Given the description of an element on the screen output the (x, y) to click on. 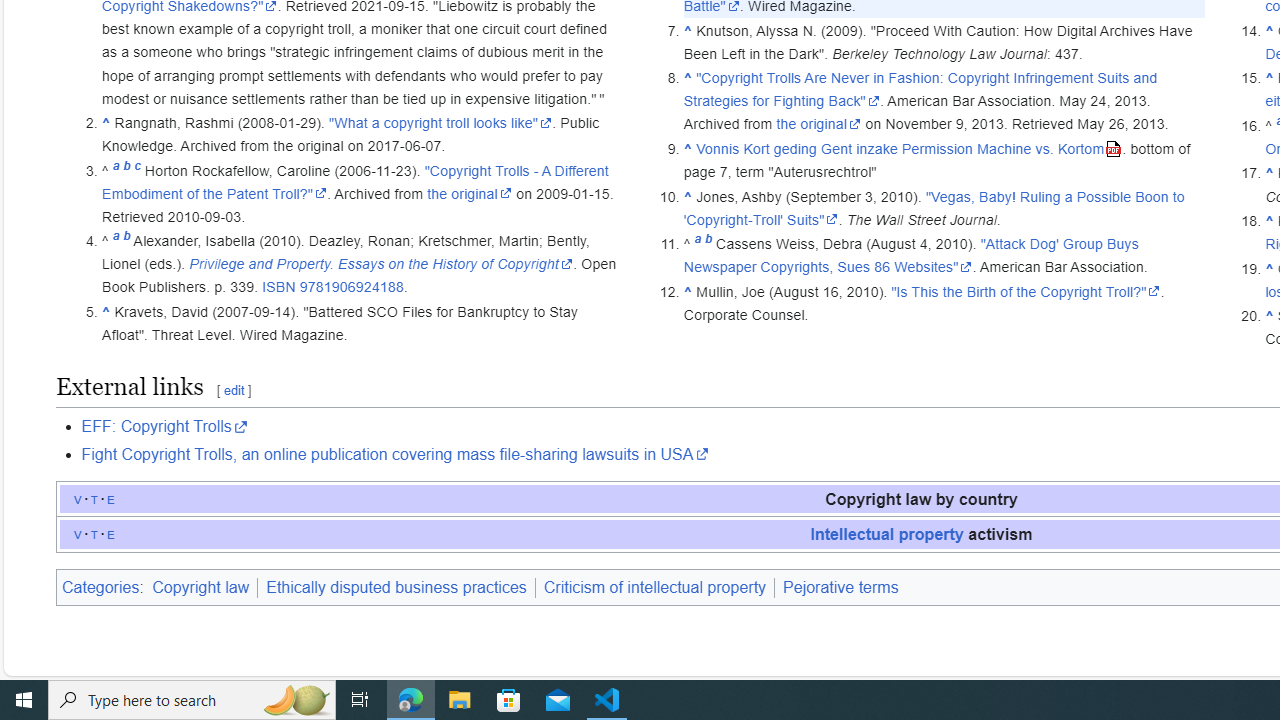
Criticism of intellectual property (653, 587)
Jump up to: a (697, 244)
Vonnis Kort geding Gent inzake Permission Machine vs. Kortom (909, 147)
Privilege and Property. Essays on the History of Copyright (381, 264)
Pejorative terms (840, 587)
e (111, 533)
Ethically disputed business practices (396, 587)
EFF: Copyright Trolls (164, 427)
"What a copyright troll looks like" (440, 123)
Pejorative terms (840, 587)
edit (233, 390)
